Given the description of an element on the screen output the (x, y) to click on. 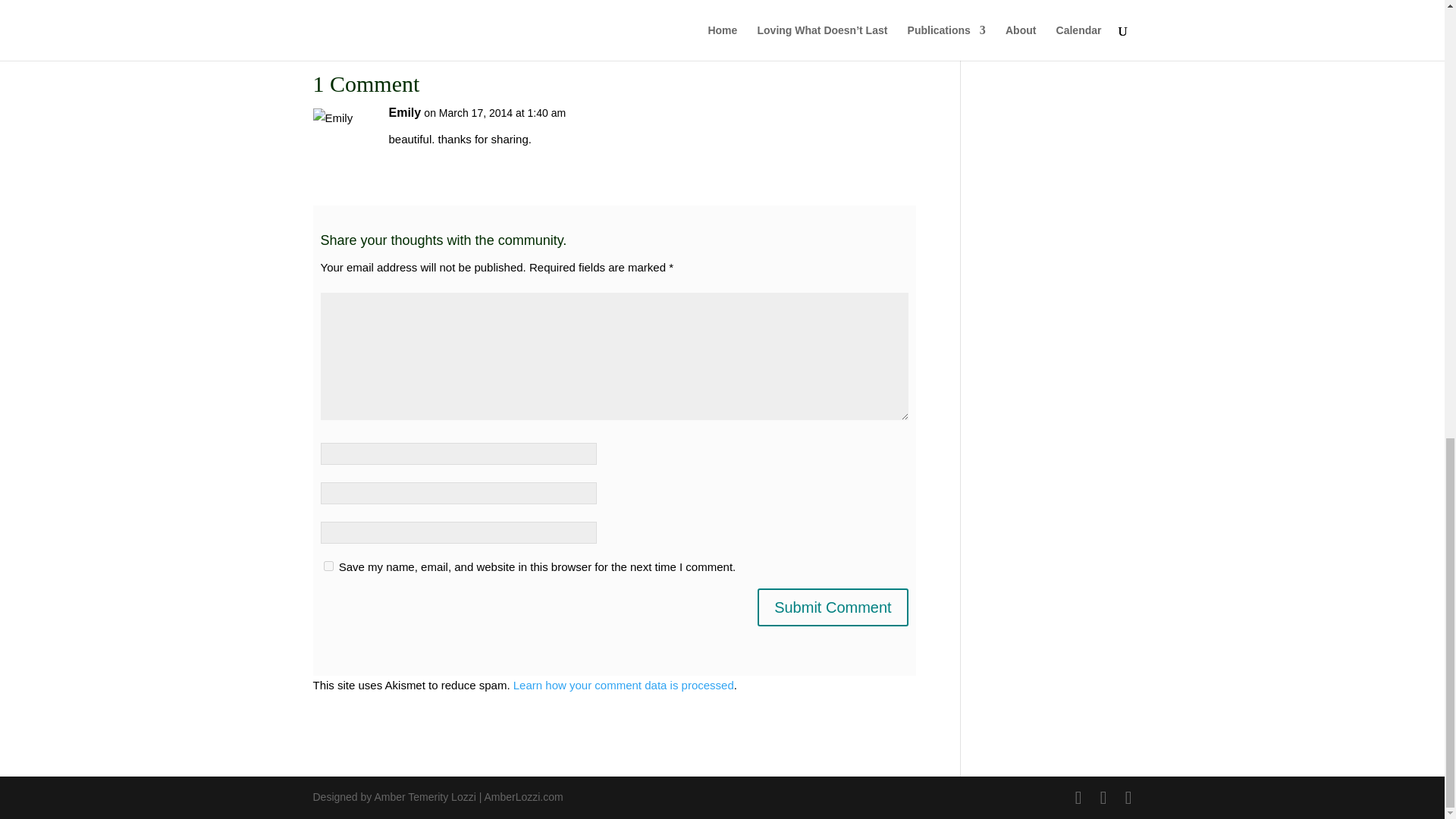
yes (328, 565)
Learn how your comment data is processed (623, 684)
Reply (879, 127)
Submit Comment (832, 607)
Submit Comment (832, 607)
